Given the description of an element on the screen output the (x, y) to click on. 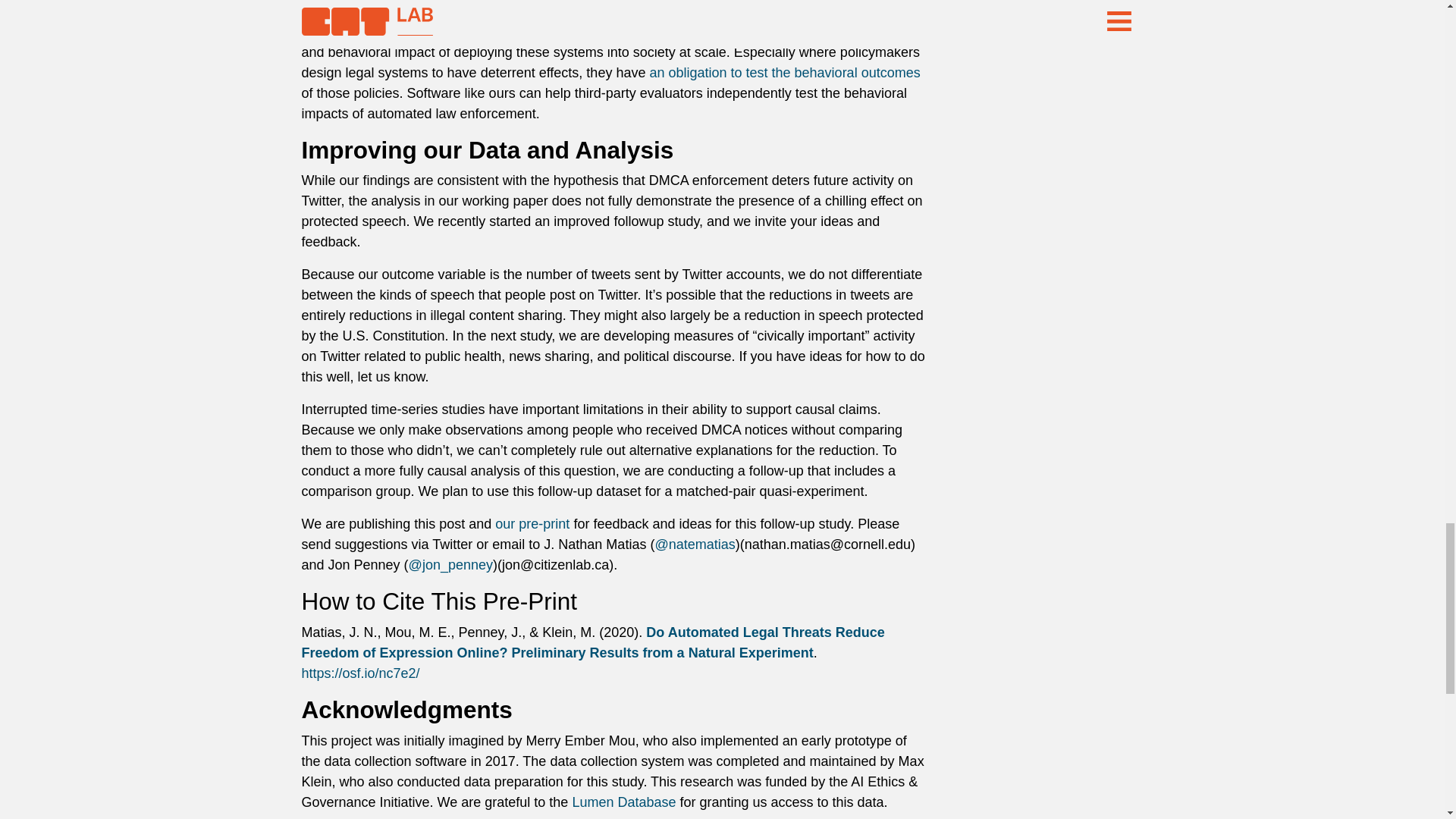
an obligation to test the behavioral outcomes (784, 72)
our pre-print (532, 523)
bias, noise, and errors by algorithms (411, 31)
Lumen Database (623, 801)
